Given the description of an element on the screen output the (x, y) to click on. 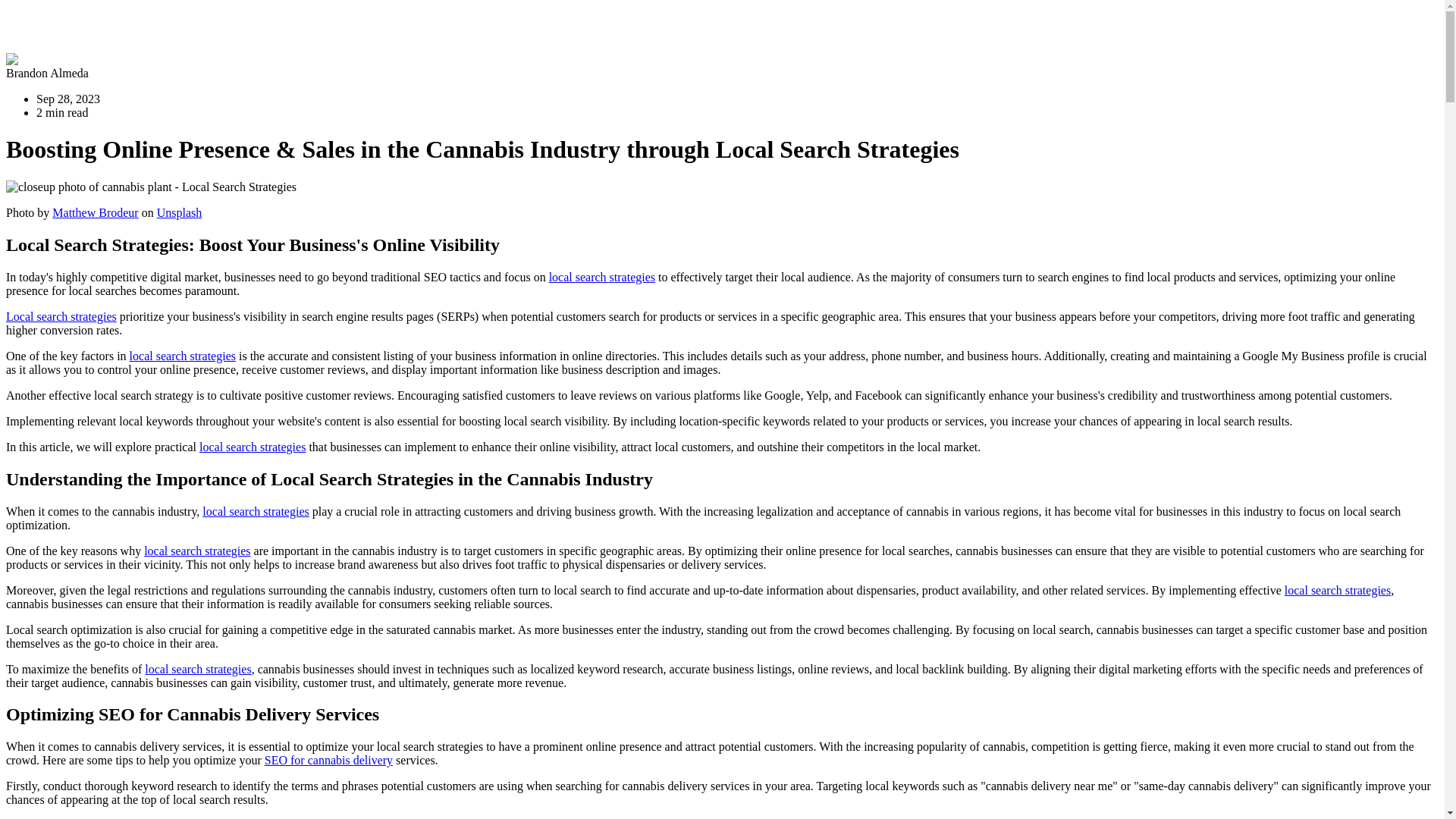
local search strategies (182, 355)
local search strategies (601, 277)
Unsplash (179, 212)
Local search strategies (60, 316)
local search strategies (197, 550)
local search strategies (197, 668)
Matthew Brodeur (95, 212)
local search strategies (252, 446)
SEO for cannabis delivery (328, 759)
local search strategies (255, 511)
local search strategies (1337, 590)
